Given the description of an element on the screen output the (x, y) to click on. 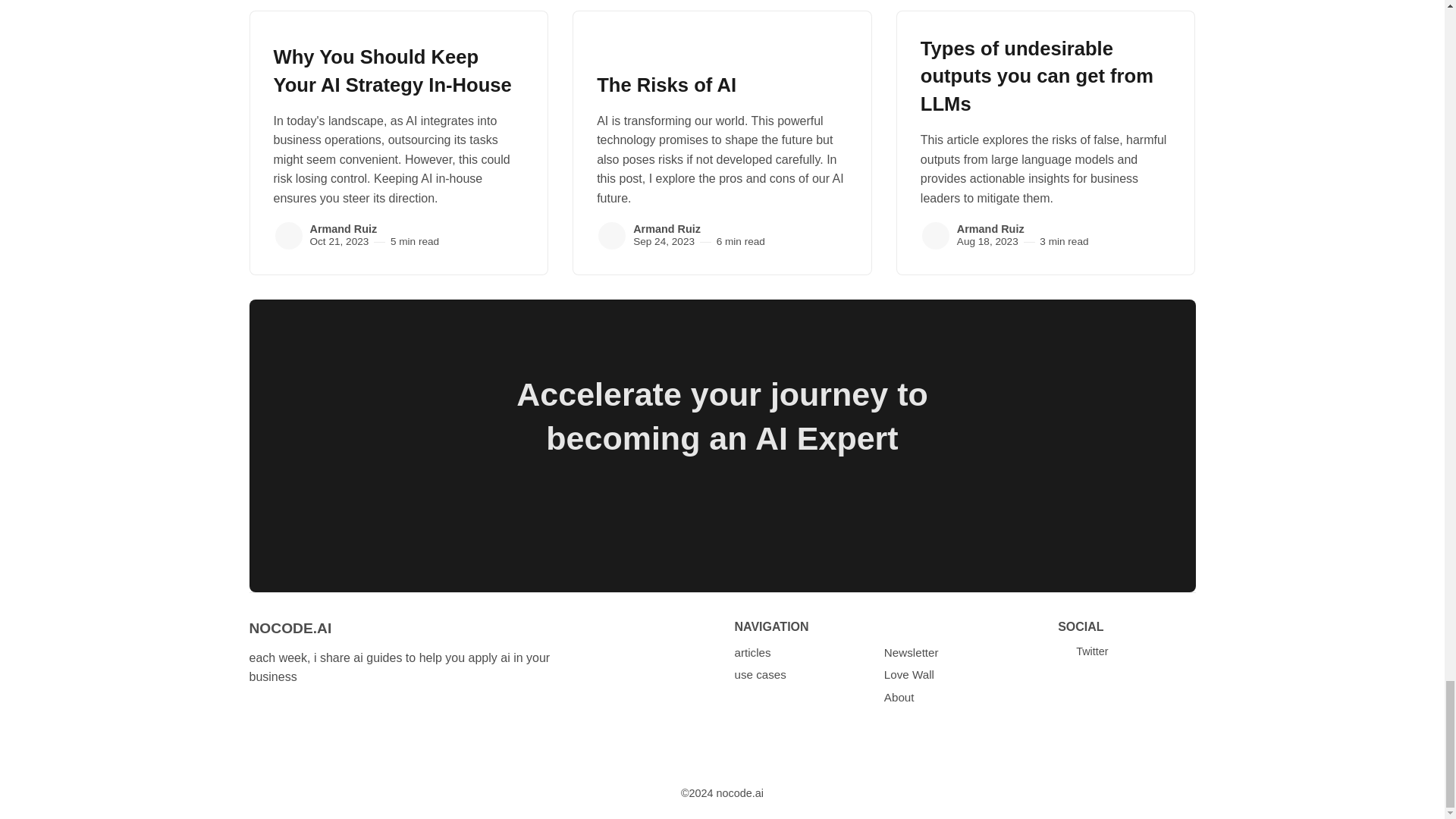
Armand Ruiz (611, 235)
Armand Ruiz (666, 228)
The Risks of AI (666, 84)
Armand Ruiz (935, 235)
Armand Ruiz (342, 228)
Why You Should Keep Your AI Strategy In-House (392, 70)
Armand Ruiz (287, 235)
Types of undesirable outputs you can get from LLMs (1036, 76)
